Given the description of an element on the screen output the (x, y) to click on. 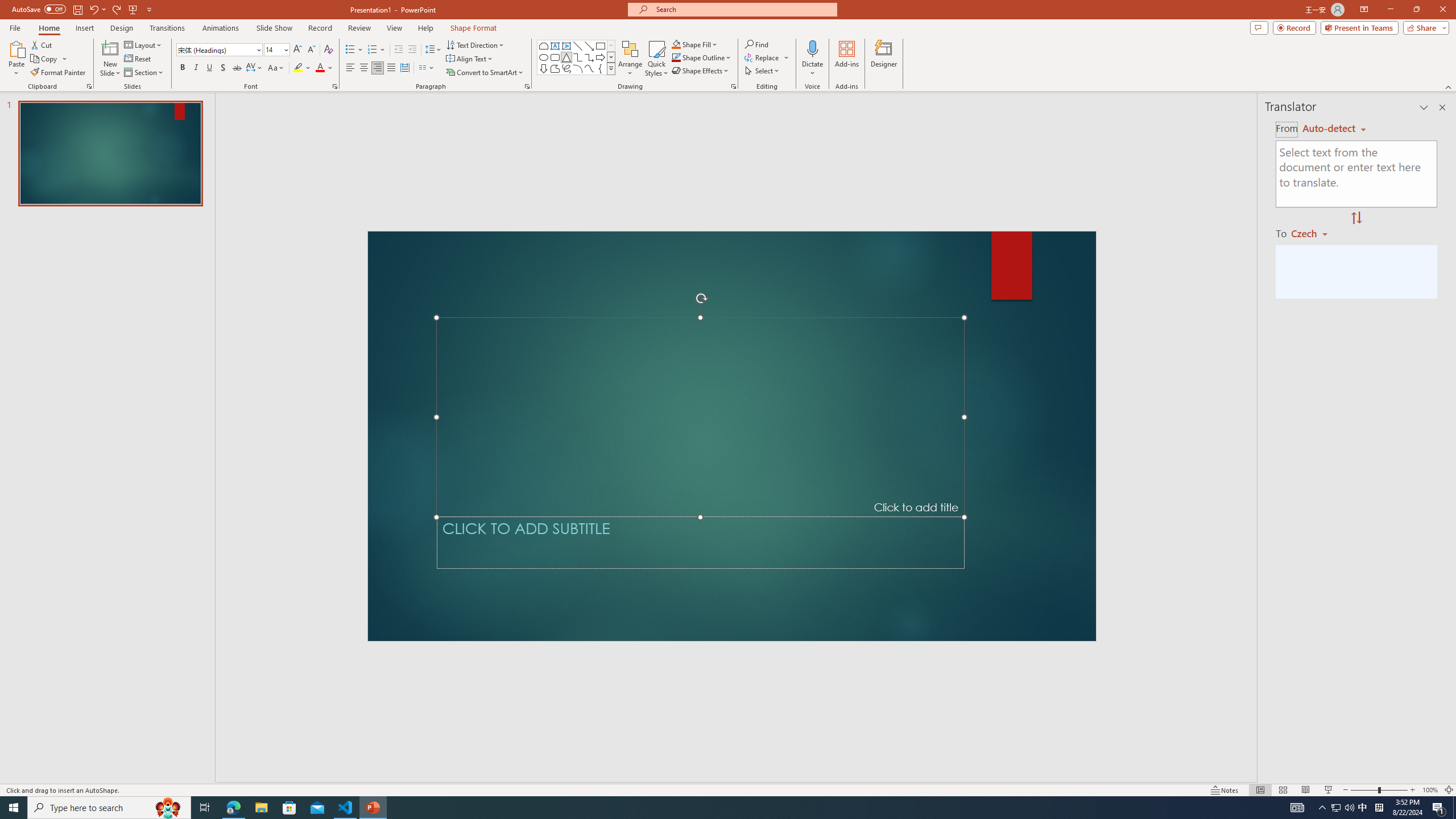
Subtitle TextBox (699, 542)
Shape Outline Blue, Accent 1 (675, 56)
